Given the description of an element on the screen output the (x, y) to click on. 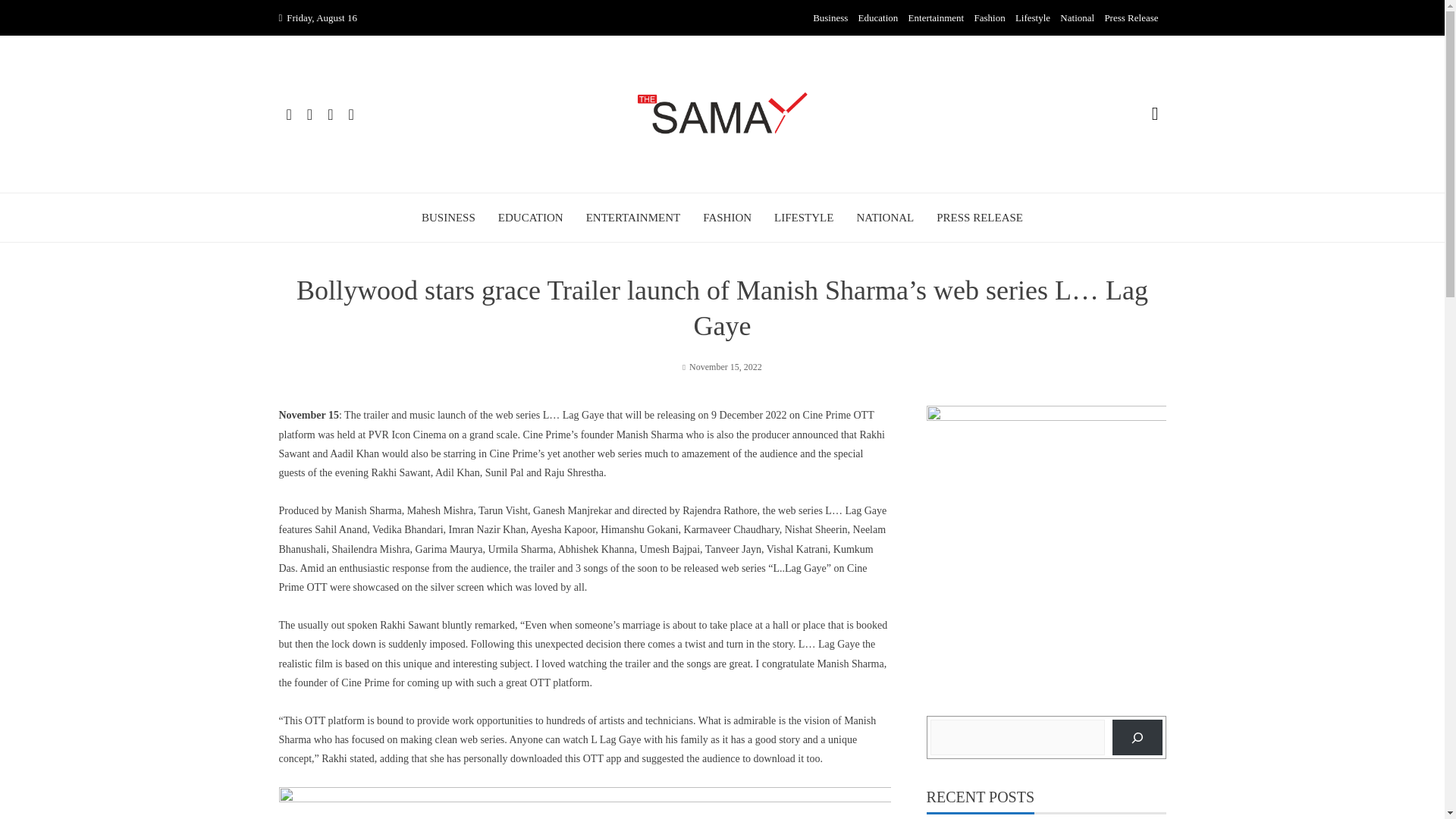
Fashion (989, 17)
Manish Sharma (367, 510)
NATIONAL (885, 217)
LIFESTYLE (803, 217)
Lifestyle (1031, 17)
ENTERTAINMENT (633, 217)
Press Release (1130, 17)
EDUCATION (530, 217)
National (1076, 17)
BUSINESS (449, 217)
